Given the description of an element on the screen output the (x, y) to click on. 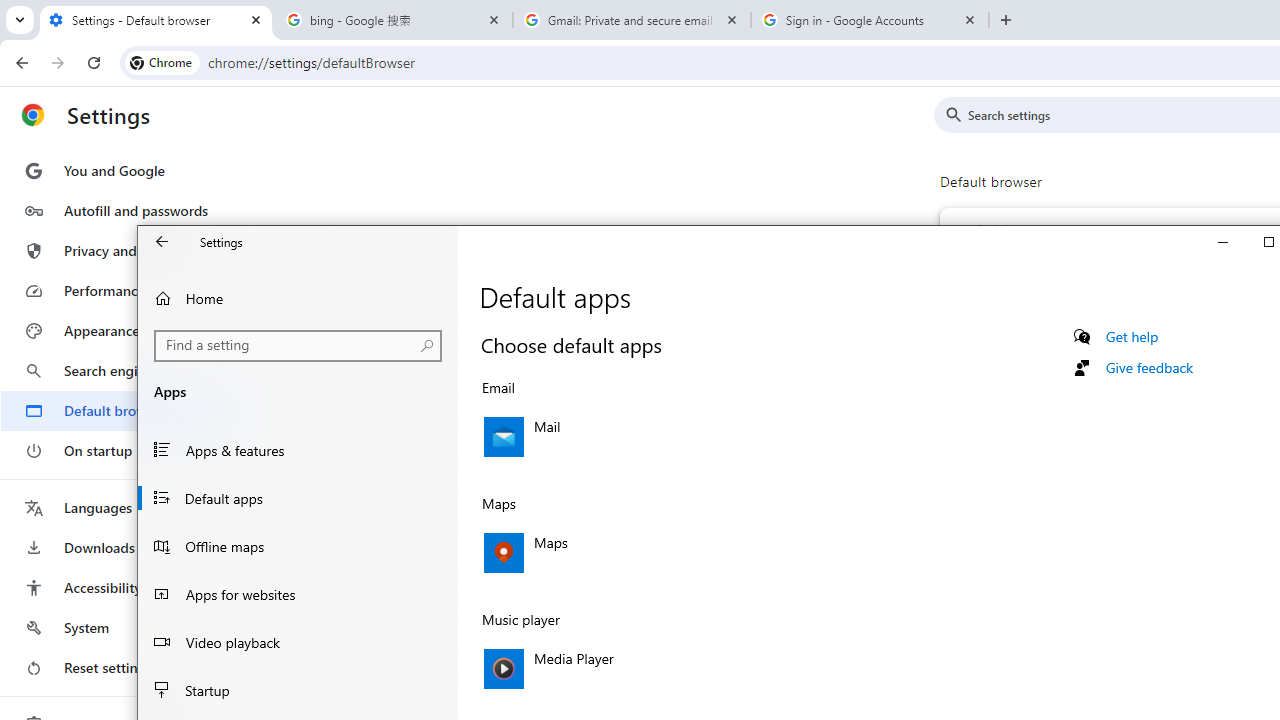
Offline maps (298, 546)
Video playback (298, 641)
Apps & features (298, 449)
Search box, Find a setting (298, 345)
Maps, Maps (691, 552)
Apps for websites (298, 593)
